Given the description of an element on the screen output the (x, y) to click on. 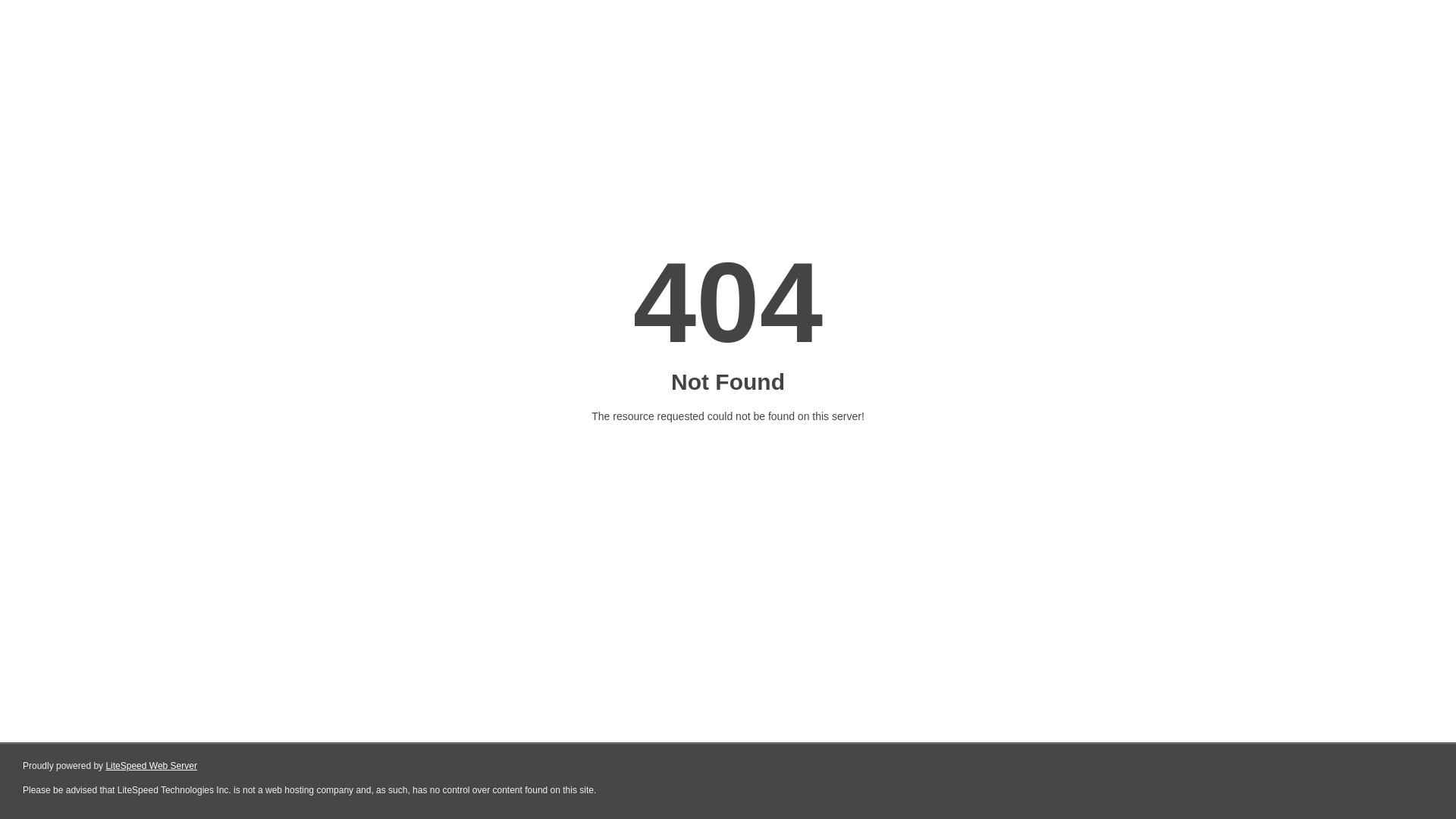
LiteSpeed Web Server Element type: text (151, 765)
